Given the description of an element on the screen output the (x, y) to click on. 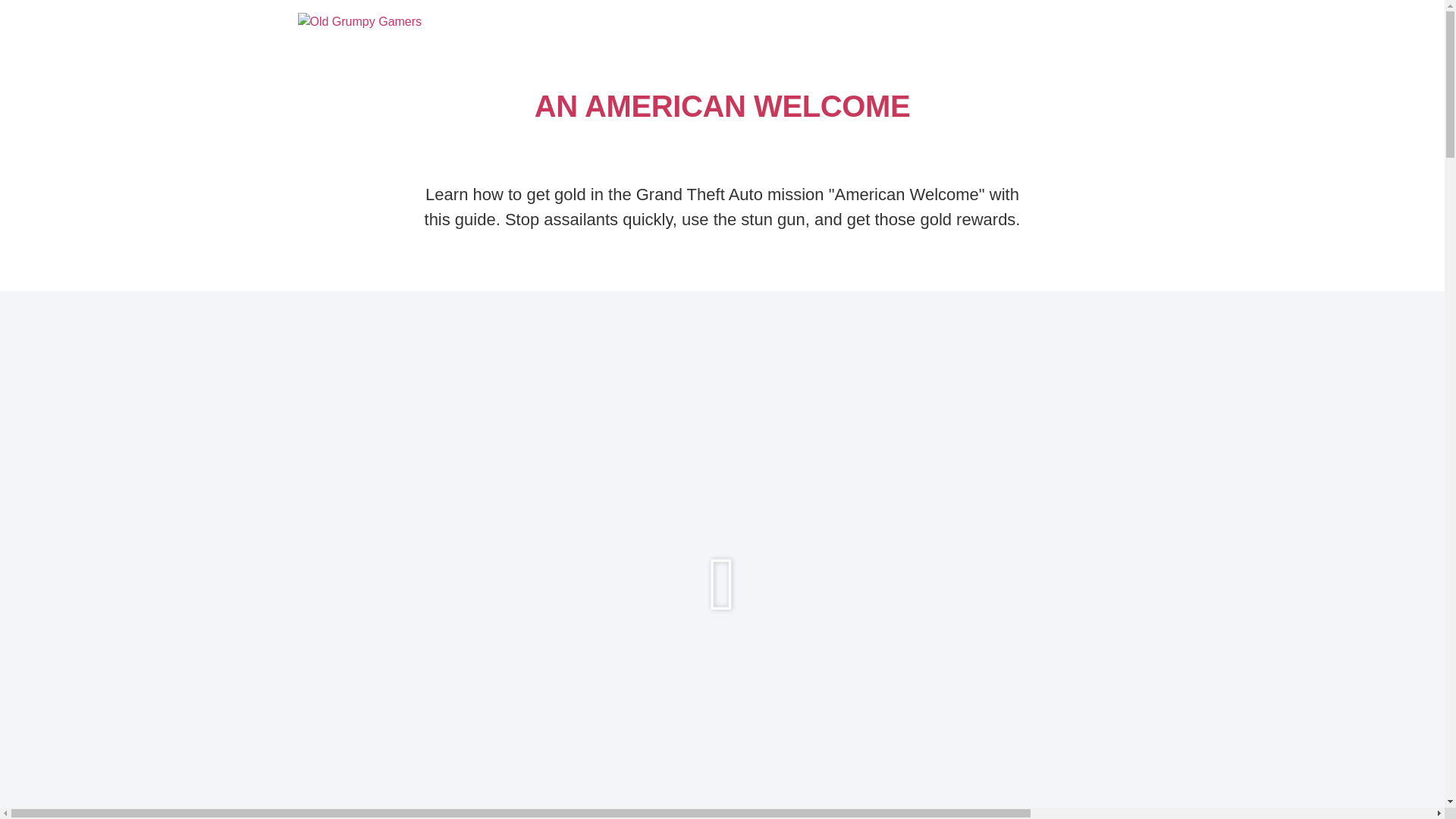
GTA (593, 22)
